Given the description of an element on the screen output the (x, y) to click on. 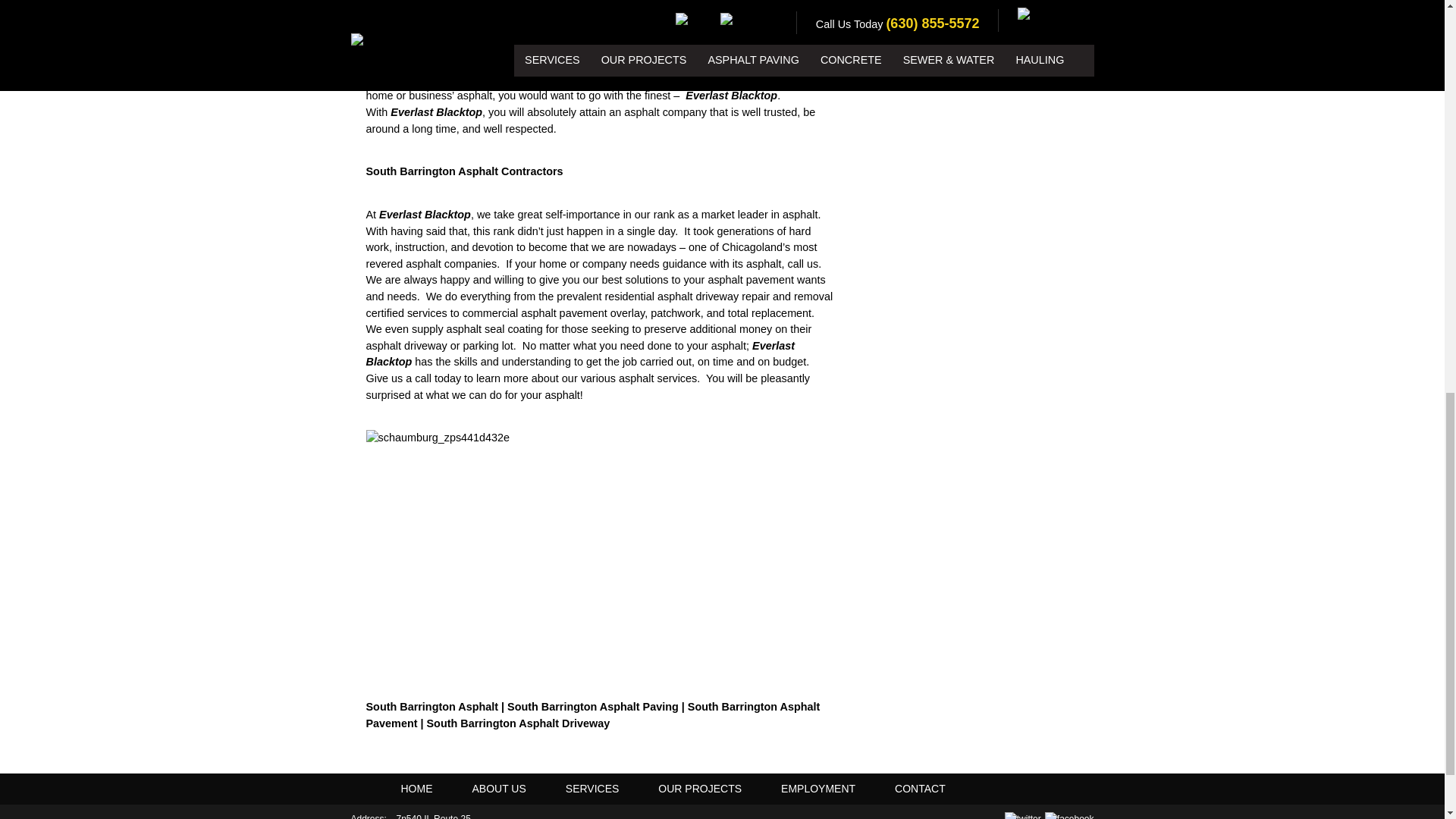
HOME (415, 788)
EMPLOYMENT (818, 788)
OUR PROJECTS (700, 788)
SERVICES (592, 788)
ABOUT US (497, 788)
CONTACT (920, 788)
